Given the description of an element on the screen output the (x, y) to click on. 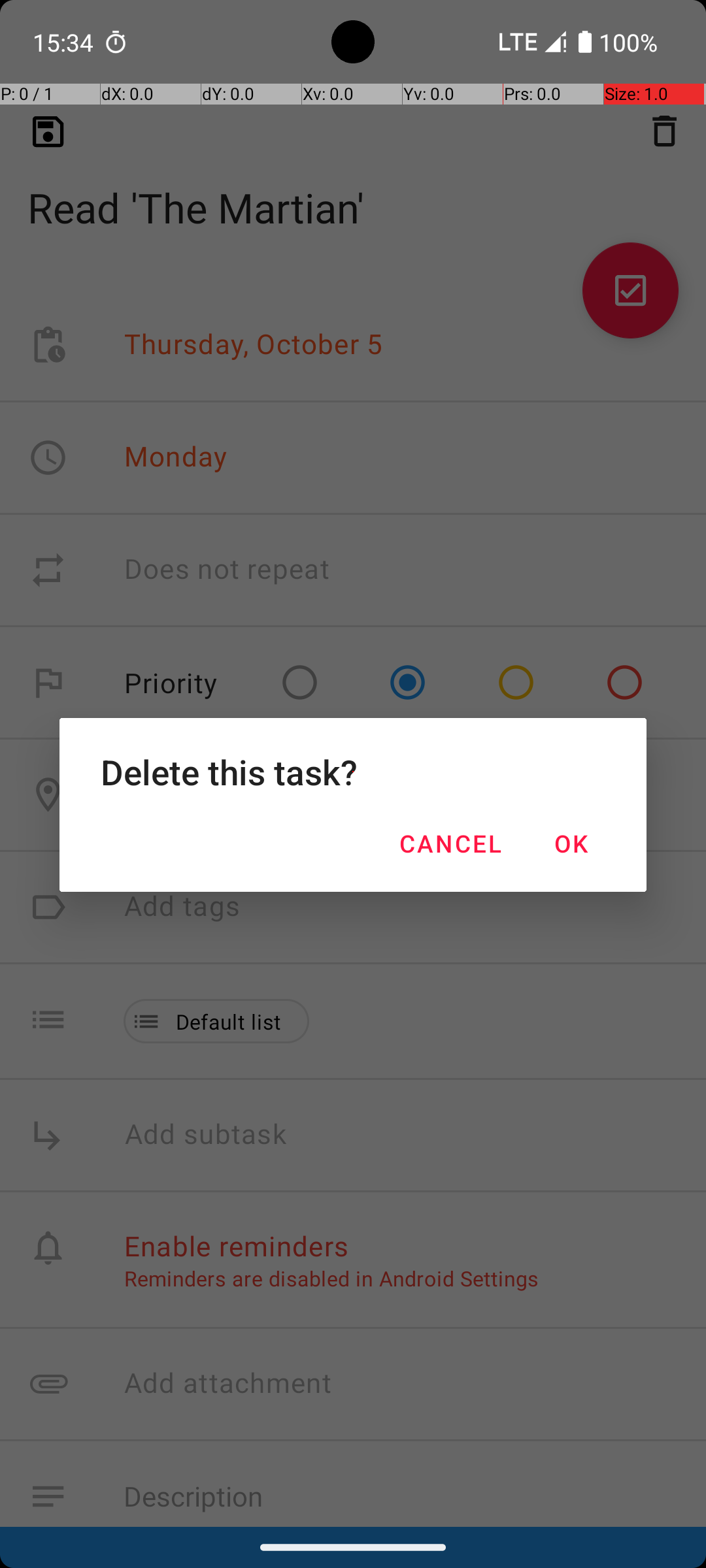
Delete this task? Element type: android.widget.TextView (352, 771)
